Given the description of an element on the screen output the (x, y) to click on. 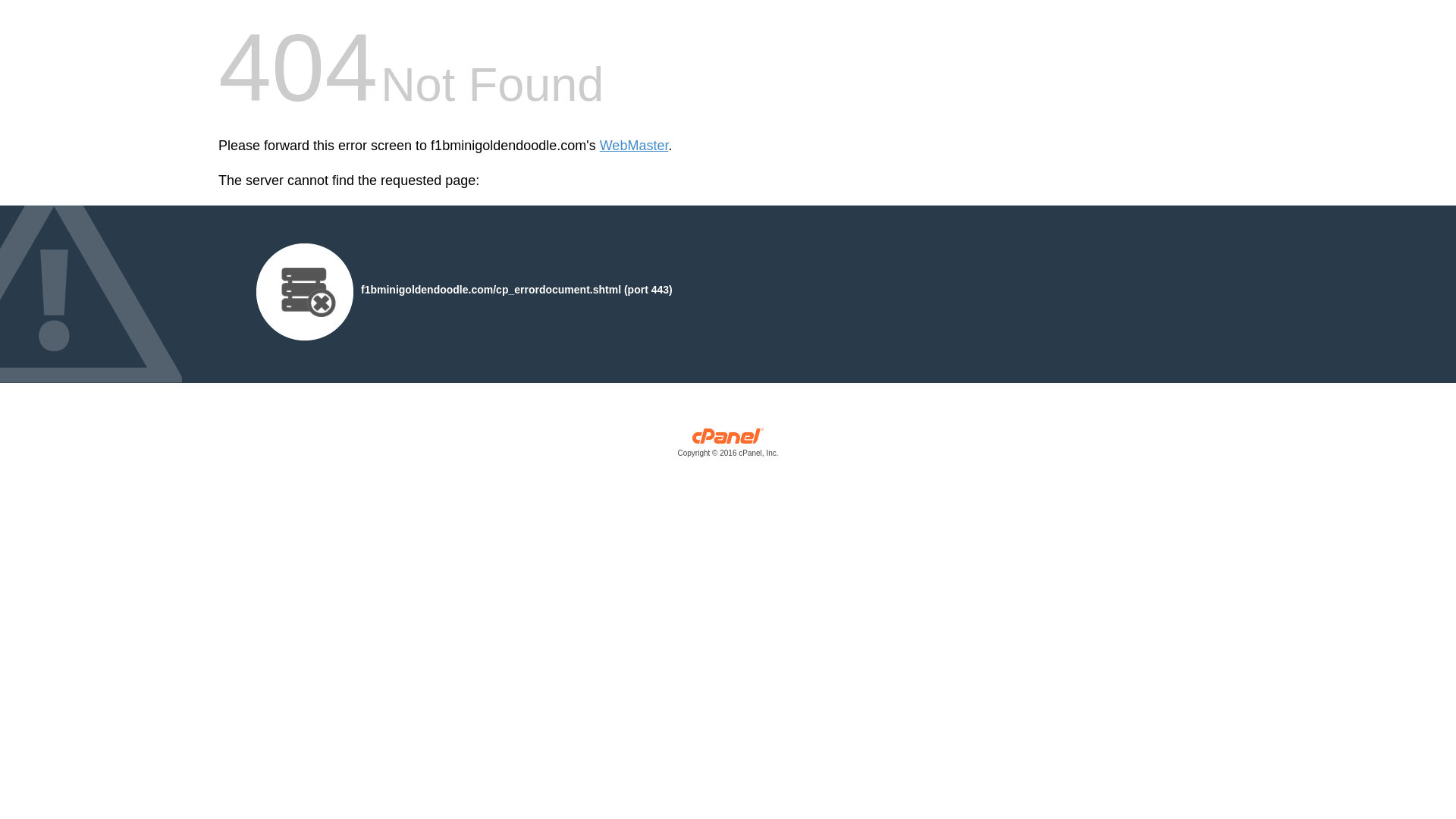
WebMaster (633, 145)
cPanel, Inc. (727, 446)
